Given the description of an element on the screen output the (x, y) to click on. 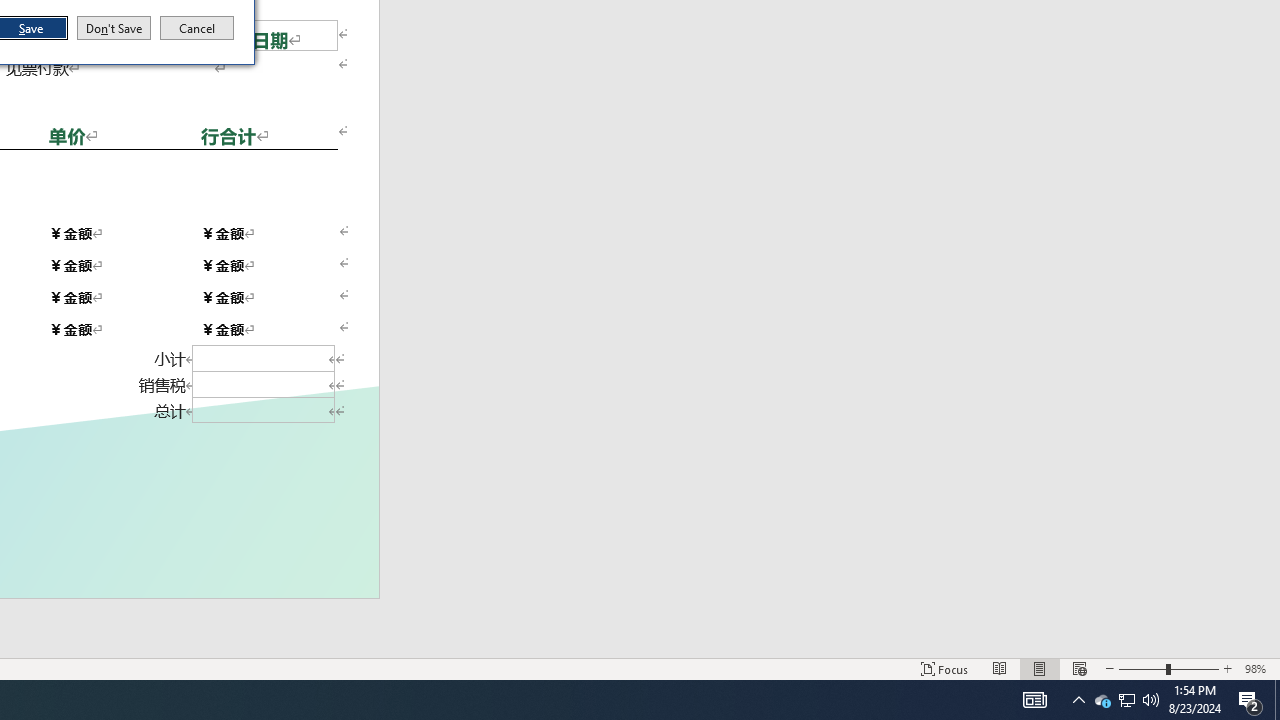
Don't Save (113, 27)
Cancel (197, 27)
Zoom 98% (1258, 668)
